Given the description of an element on the screen output the (x, y) to click on. 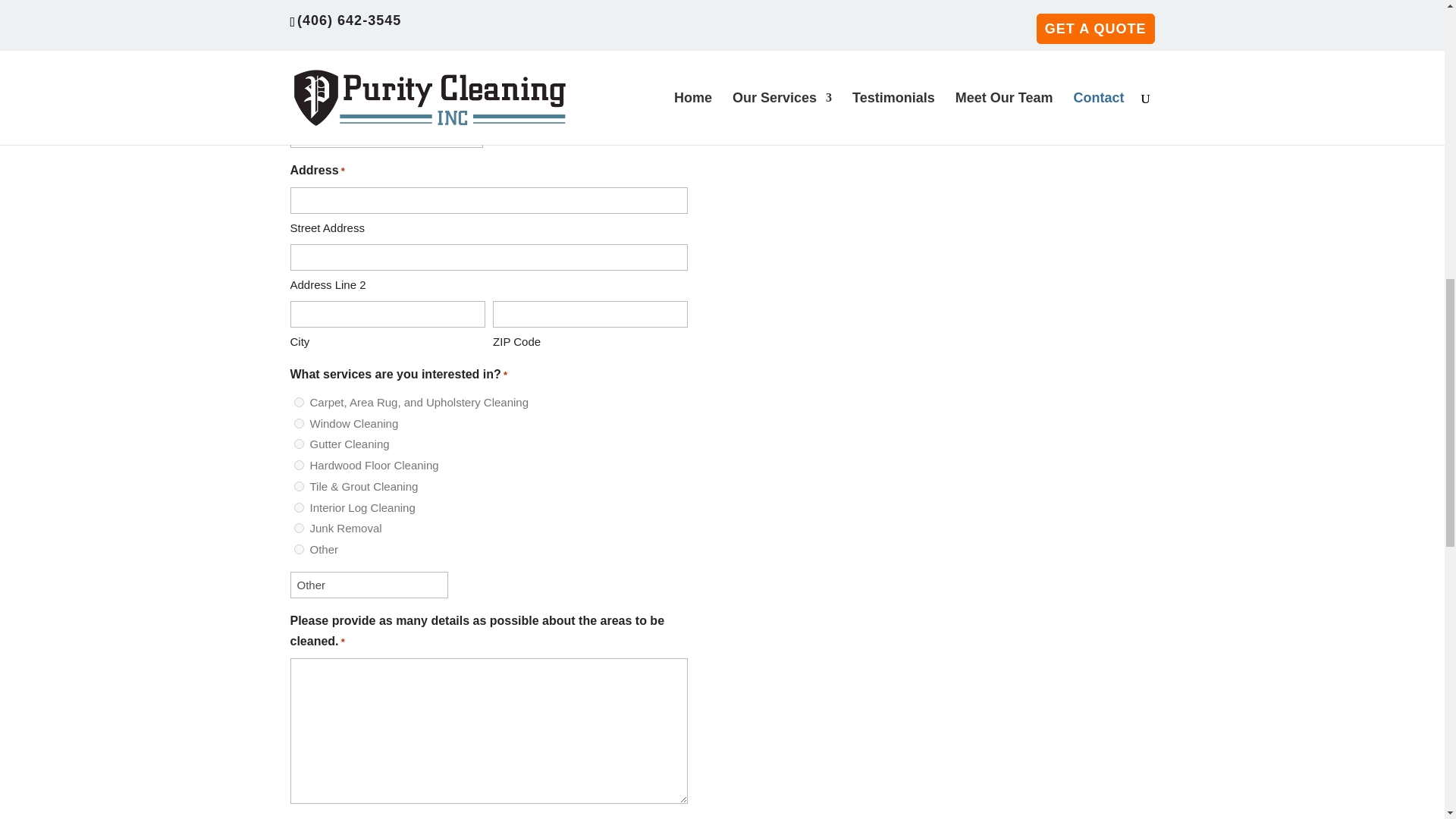
Gutter Cleaning (299, 443)
Junk Removal (299, 528)
Hardwood Floor Cleaning (299, 465)
Window Cleaning (299, 423)
Other (367, 584)
Interior Log Cleaning (299, 507)
Carpet, Area Rug, and Upholstery Cleaning (299, 402)
